Given the description of an element on the screen output the (x, y) to click on. 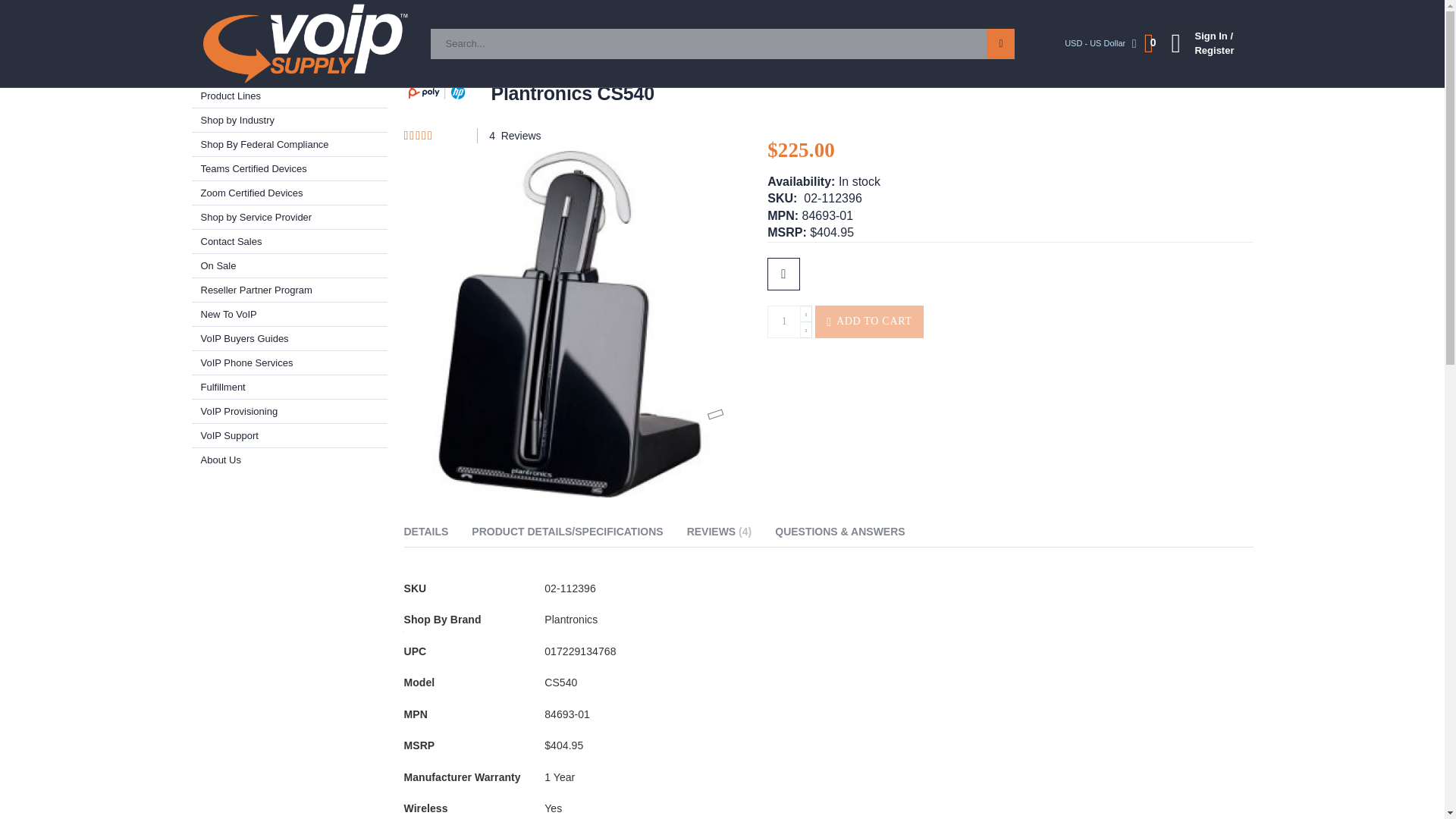
1 (783, 321)
1-800-398-8647 (1022, 14)
Plantronics Wireless Headsets (459, 44)
Add to Compare (783, 273)
Plantronics DECT Headsets (609, 44)
Become a Reseller (280, 15)
My Account (1199, 43)
Contact Us (443, 15)
Plantronics (346, 44)
Compare Products (527, 15)
